Given the description of an element on the screen output the (x, y) to click on. 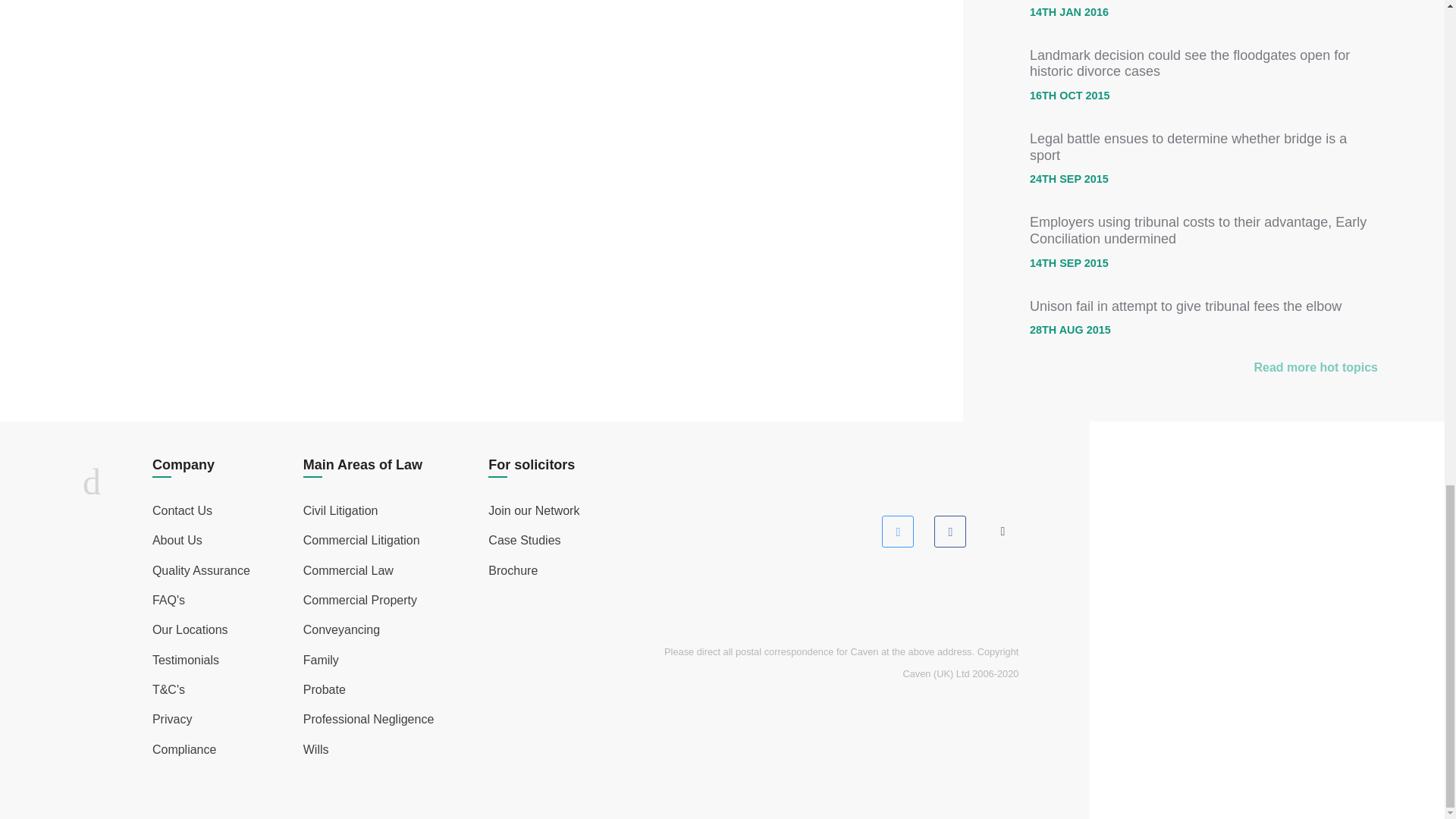
Unison fail in attempt to give tribunal fees the elbow (1184, 305)
Legal battle ensues to determine whether bridge is a sport (1187, 146)
Twitter (897, 531)
Linkedin (1002, 531)
Facebook (949, 531)
